Given the description of an element on the screen output the (x, y) to click on. 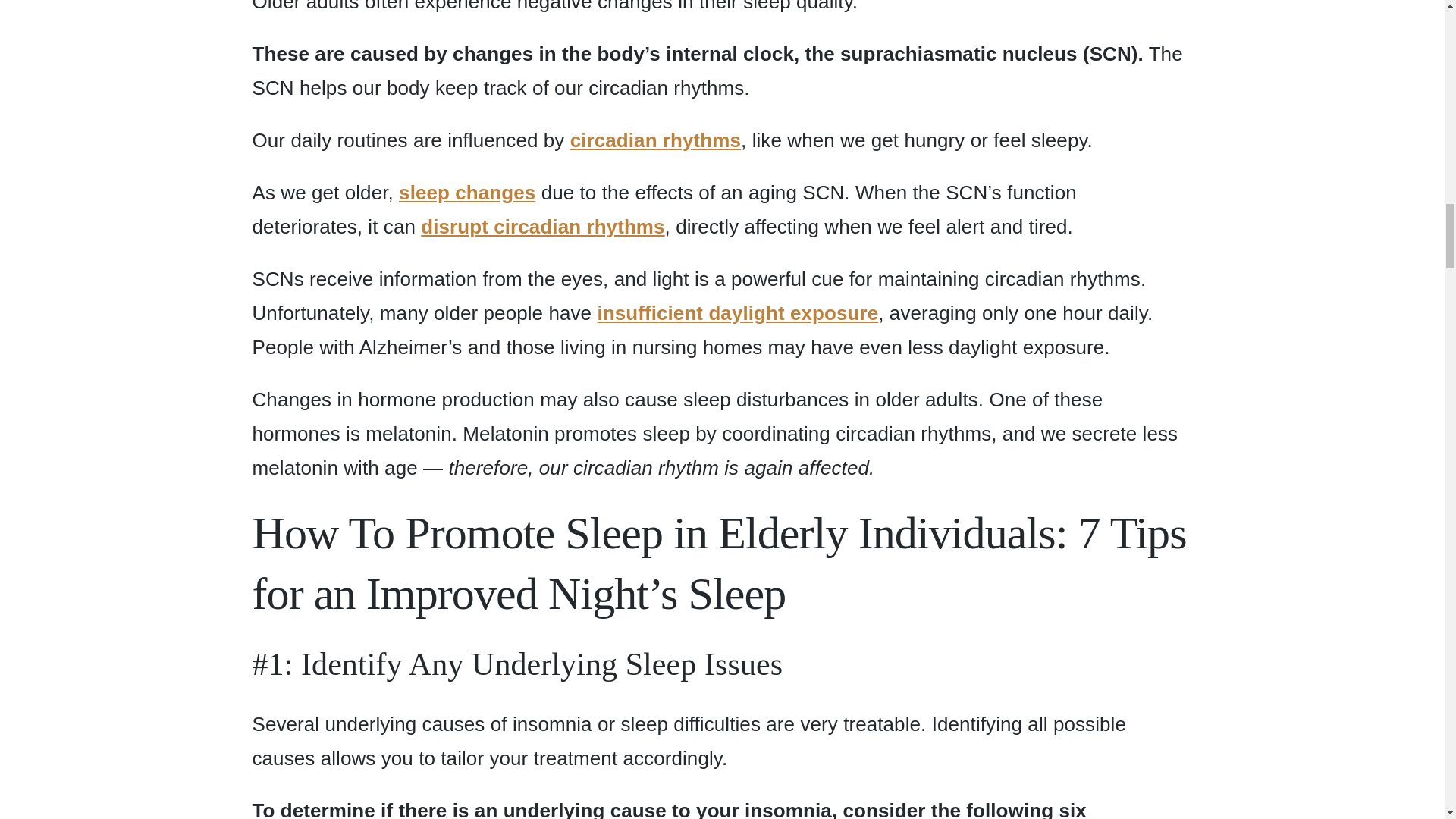
disrupt circadian rhythms (541, 226)
insufficient daylight exposure (736, 313)
sleep changes (466, 191)
circadian rhythms (655, 139)
